Given the description of an element on the screen output the (x, y) to click on. 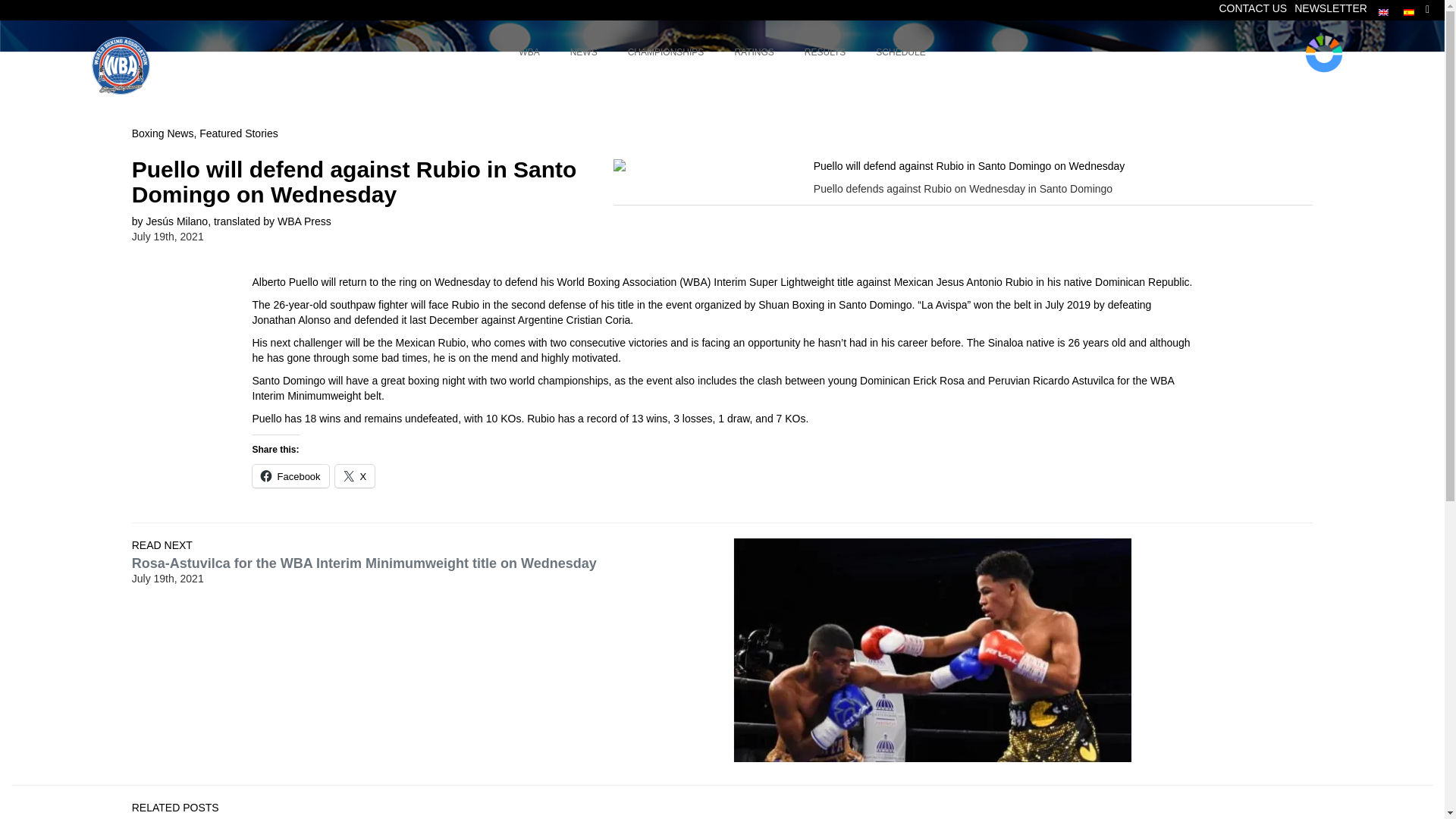
NEWS (583, 53)
Click to share on Facebook (290, 475)
CONTACT US (721, 53)
CHAMPIONSHIPS (1252, 7)
NEWSLETTER (665, 53)
RATINGS (1330, 7)
Click to share on X (754, 53)
WBA (354, 475)
